Given the description of an element on the screen output the (x, y) to click on. 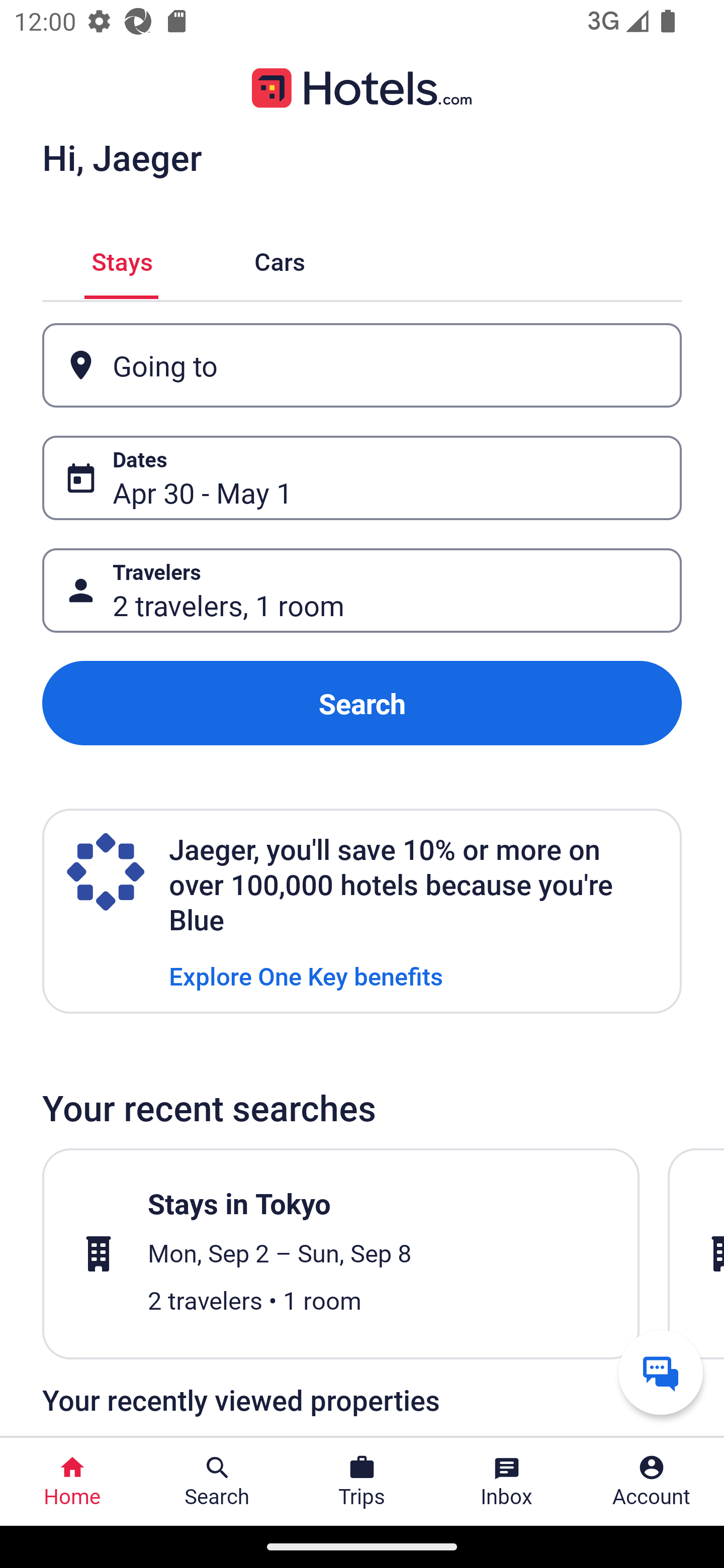
Hi, Jaeger (121, 156)
Cars (279, 259)
Going to Button (361, 365)
Dates Button Apr 30 - May 1 (361, 477)
Travelers Button 2 travelers, 1 room (361, 590)
Search (361, 702)
Get help from a virtual agent (660, 1371)
Search Search Button (216, 1481)
Trips Trips Button (361, 1481)
Inbox Inbox Button (506, 1481)
Account Profile. Button (651, 1481)
